Given the description of an element on the screen output the (x, y) to click on. 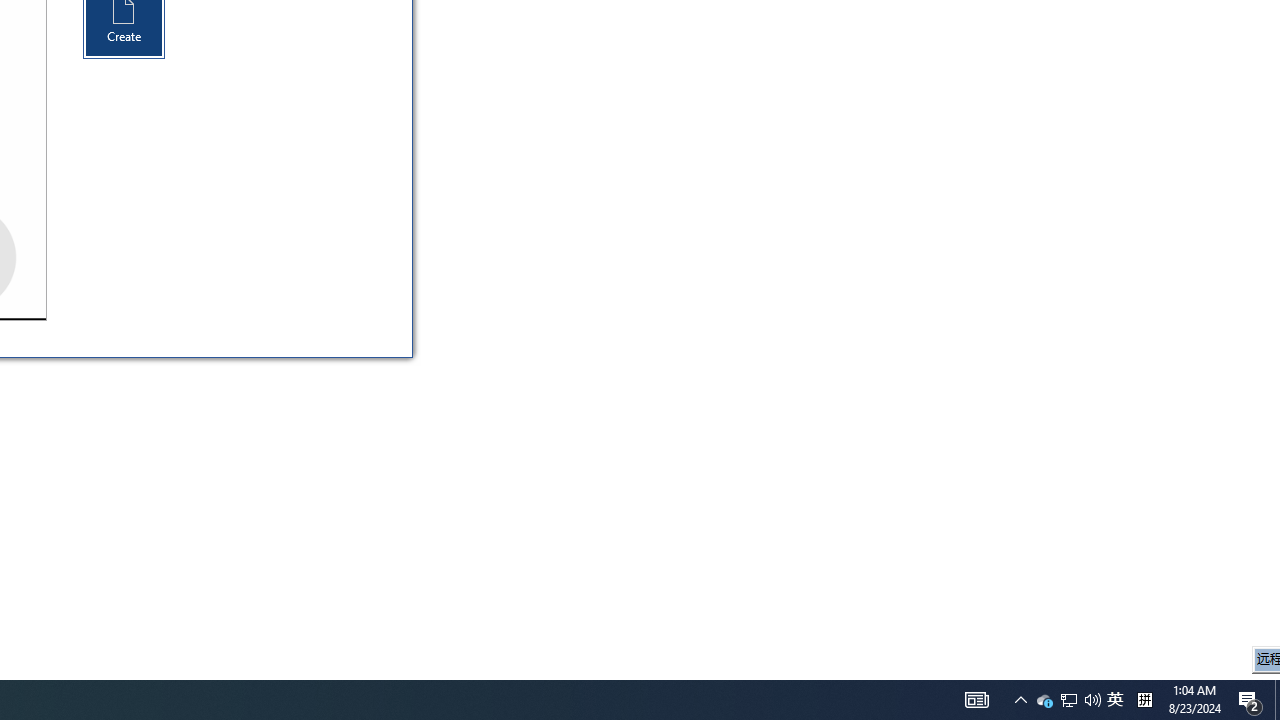
Show desktop (1277, 699)
AutomationID: 4105 (976, 699)
Action Center, 2 new notifications (1069, 699)
Tray Input Indicator - Chinese (Simplified, China) (1250, 699)
User Promoted Notification Area (1144, 699)
Q2790: 100% (1068, 699)
Notification Chevron (1092, 699)
